Given the description of an element on the screen output the (x, y) to click on. 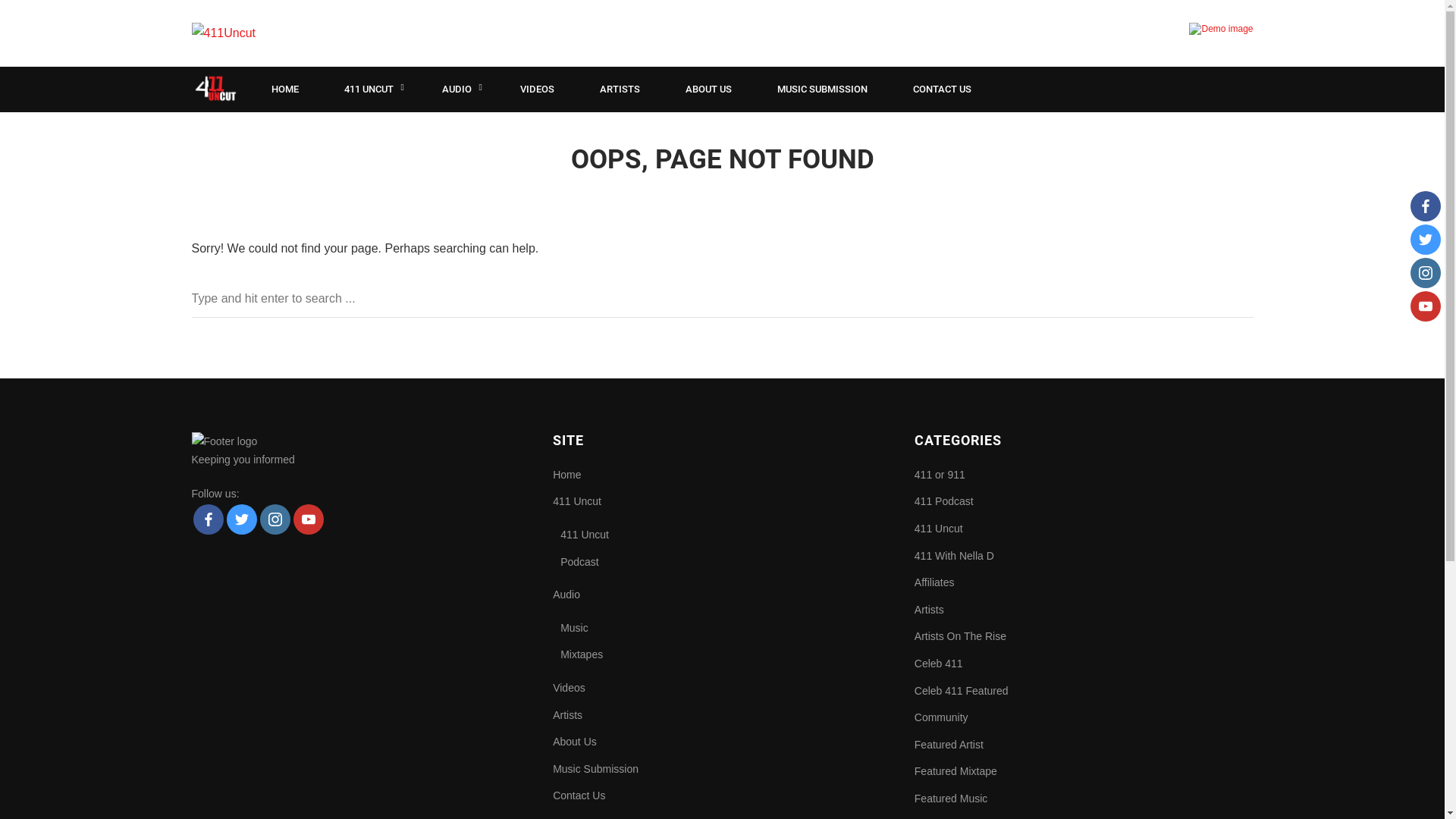
Affiliates Element type: text (934, 582)
About Us Element type: text (574, 741)
411 Uncut Element type: text (584, 534)
Podcast Element type: text (579, 561)
Community Element type: text (941, 717)
411 UNCUT Element type: text (370, 89)
VIDEOS Element type: text (537, 89)
Audio Element type: text (566, 594)
411 or 911 Element type: text (939, 475)
Artists Element type: text (567, 715)
Featured Music Element type: text (950, 798)
411 With Nella D Element type: text (954, 556)
Celeb 411 Featured Element type: text (961, 691)
Celeb 411 Element type: text (938, 663)
ABOUT US Element type: text (708, 89)
Music Element type: text (574, 627)
Home Element type: text (566, 474)
HOME Element type: text (284, 89)
CONTACT US Element type: text (942, 89)
Artists Element type: text (929, 610)
Mixtapes Element type: text (581, 654)
Artists On The Rise Element type: text (960, 636)
411 Uncut Element type: text (576, 501)
Featured Mixtape Element type: text (955, 771)
MUSIC SUBMISSION Element type: text (821, 89)
AUDIO Element type: text (457, 89)
411 Podcast Element type: text (943, 501)
Videos Element type: text (568, 687)
Featured Artist Element type: text (948, 745)
411 Uncut Element type: text (938, 528)
ARTISTS Element type: text (619, 89)
Contact Us Element type: text (578, 795)
Music Submission Element type: text (595, 768)
